Given the description of an element on the screen output the (x, y) to click on. 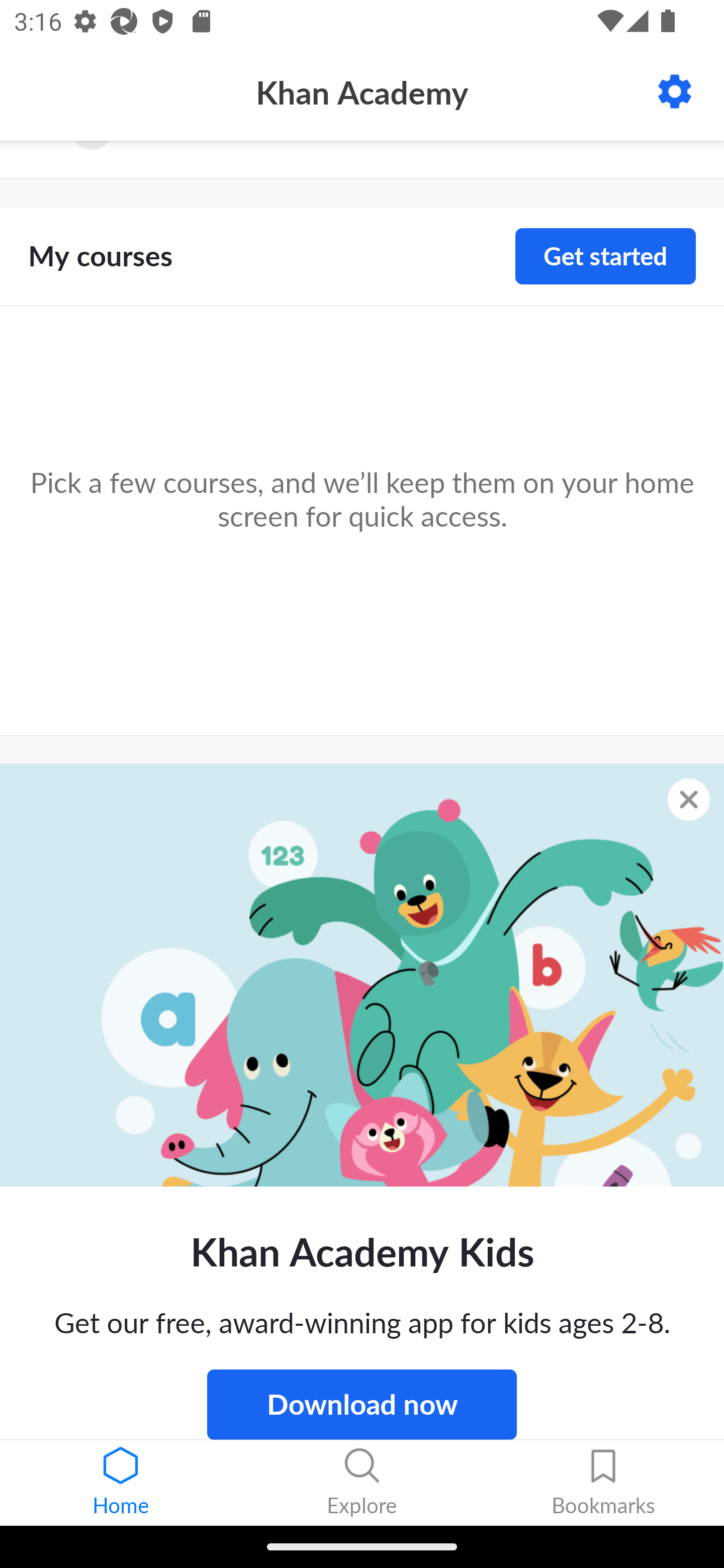
Settings (674, 91)
Get started (605, 255)
Dismiss (688, 798)
Download now (361, 1403)
Home (120, 1482)
Explore (361, 1482)
Bookmarks (603, 1482)
